Given the description of an element on the screen output the (x, y) to click on. 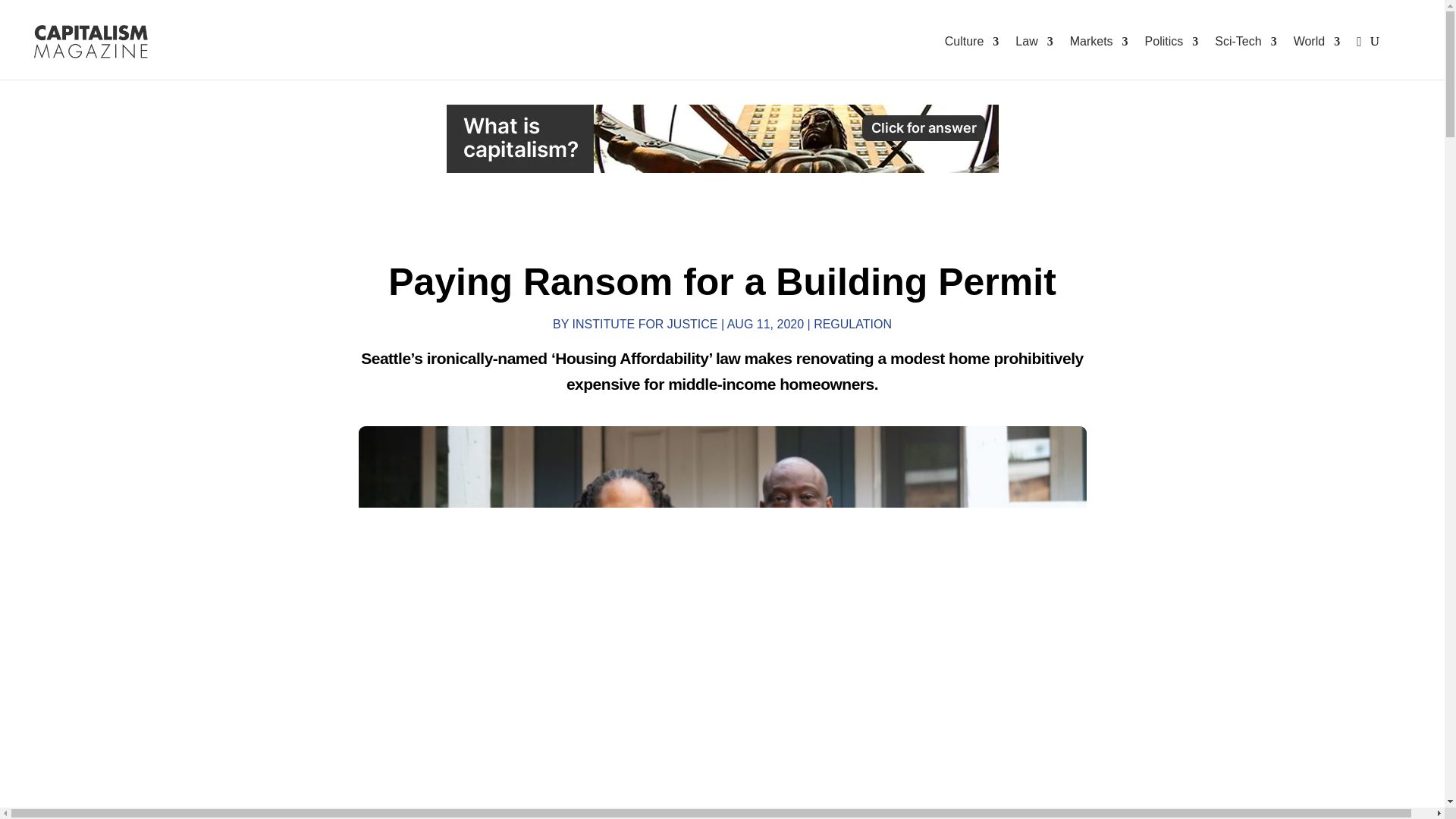
Markets (1099, 41)
Culture (971, 41)
Posts by Institute for Justice (644, 323)
Capitalism Tour (721, 138)
